Given the description of an element on the screen output the (x, y) to click on. 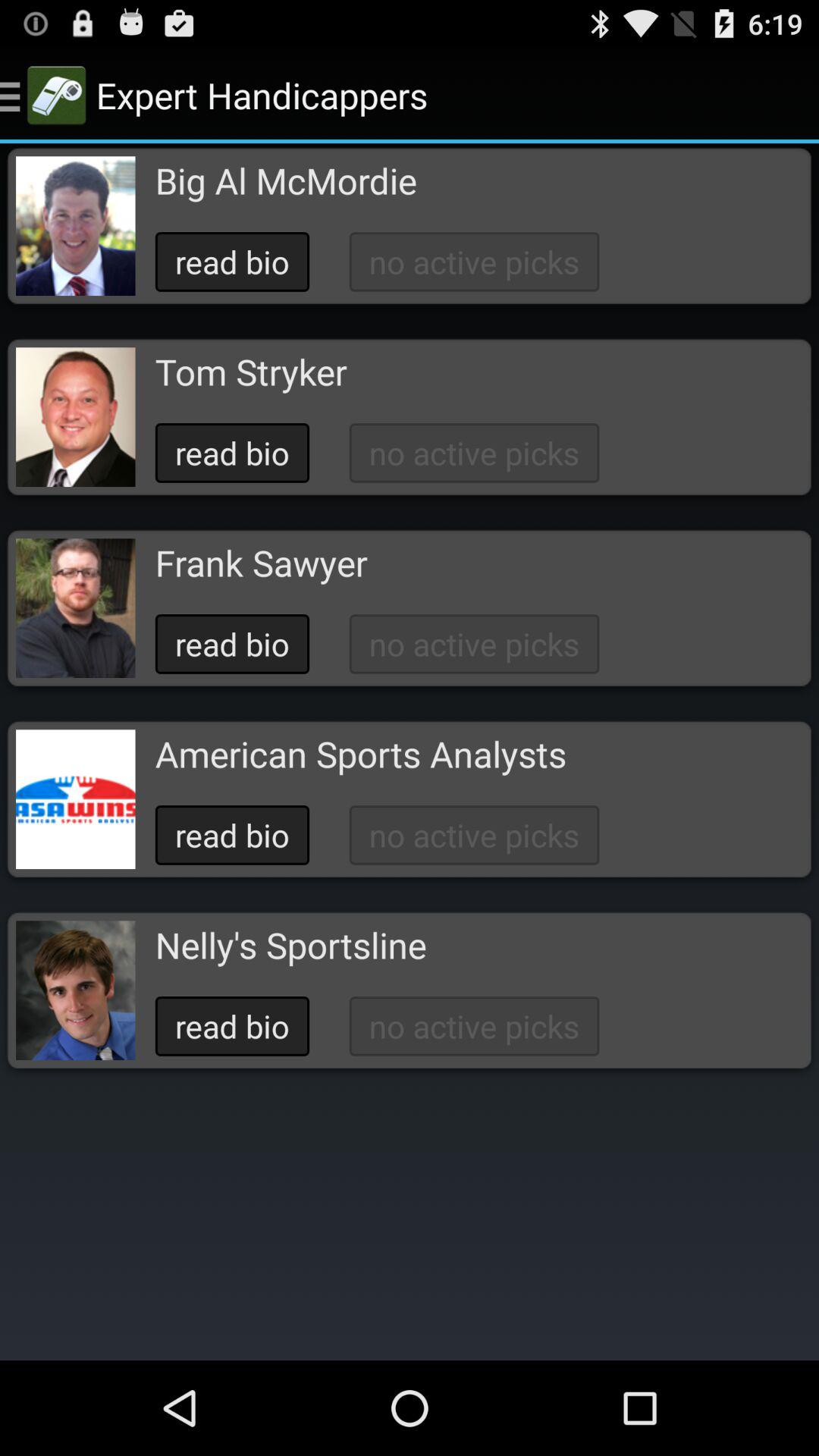
turn on the tom stryker app (250, 371)
